Given the description of an element on the screen output the (x, y) to click on. 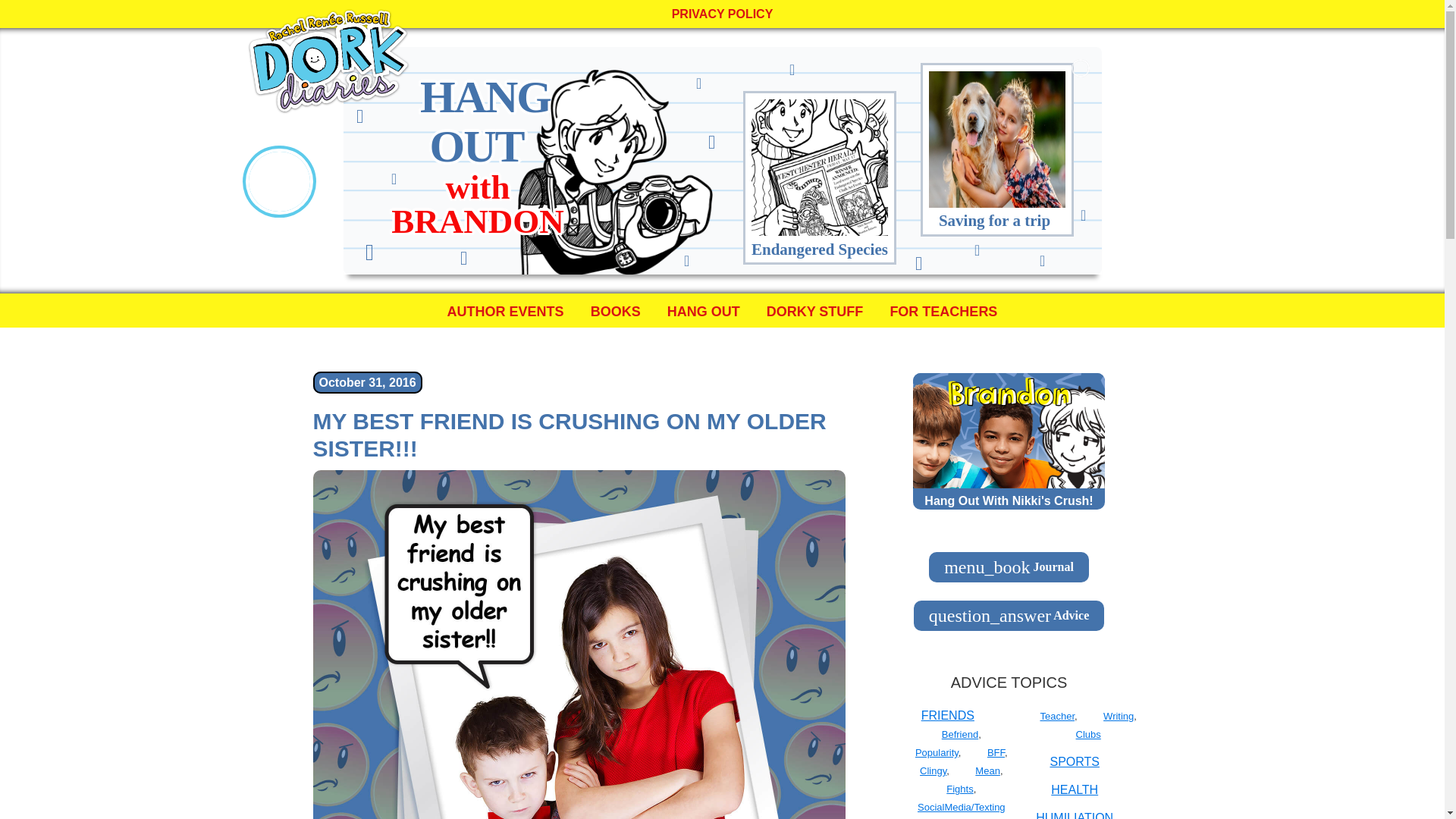
FRIENDS (947, 715)
AUTHOR EVENTS (505, 310)
PRIVACY POLICY (722, 13)
Befriend (960, 734)
HANG OUT (703, 310)
FOR TEACHERS (943, 310)
DORKY STUFF (815, 310)
Popularity (936, 752)
BOOKS (615, 310)
